Given the description of an element on the screen output the (x, y) to click on. 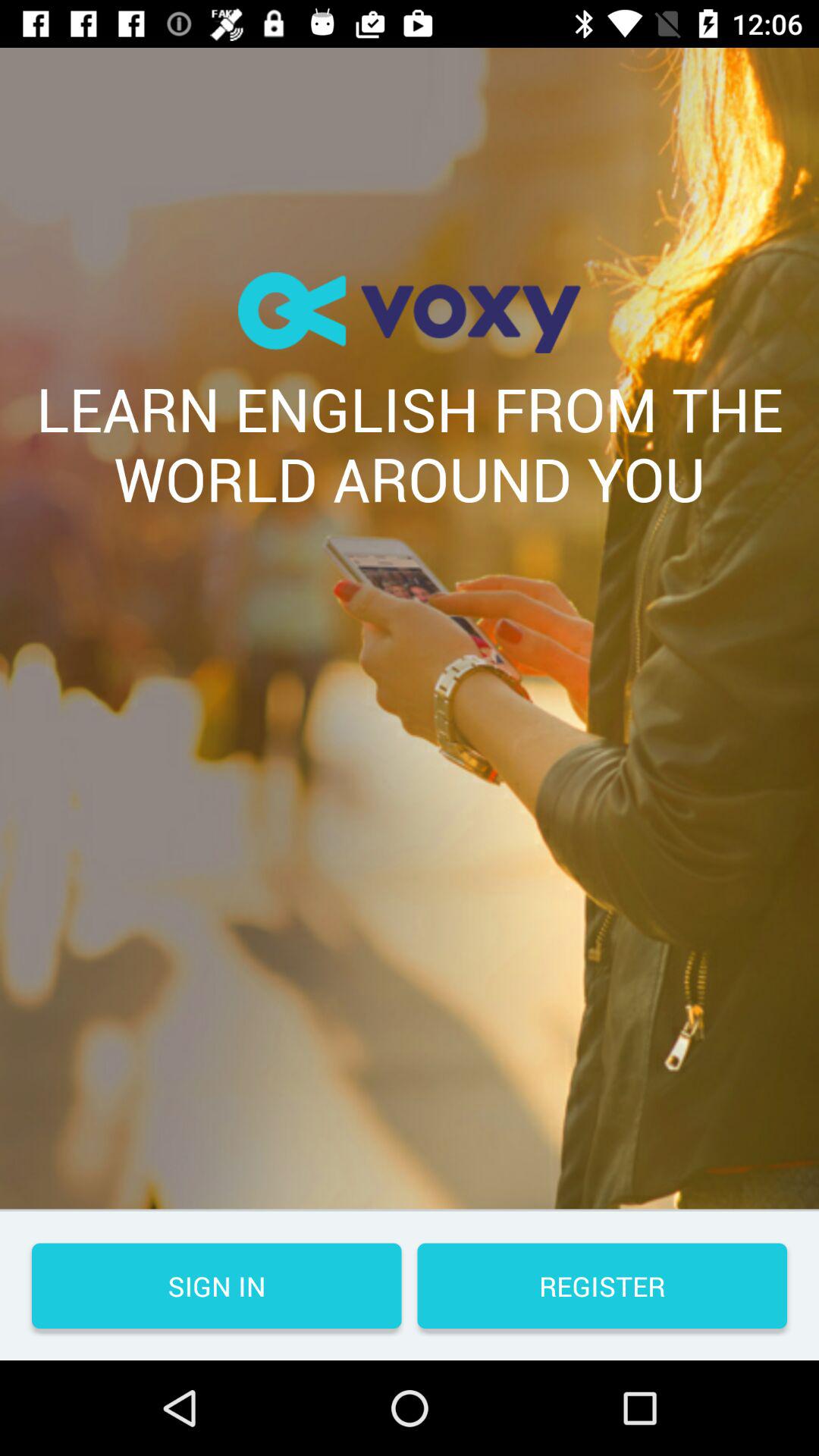
launch button at the bottom left corner (216, 1285)
